Given the description of an element on the screen output the (x, y) to click on. 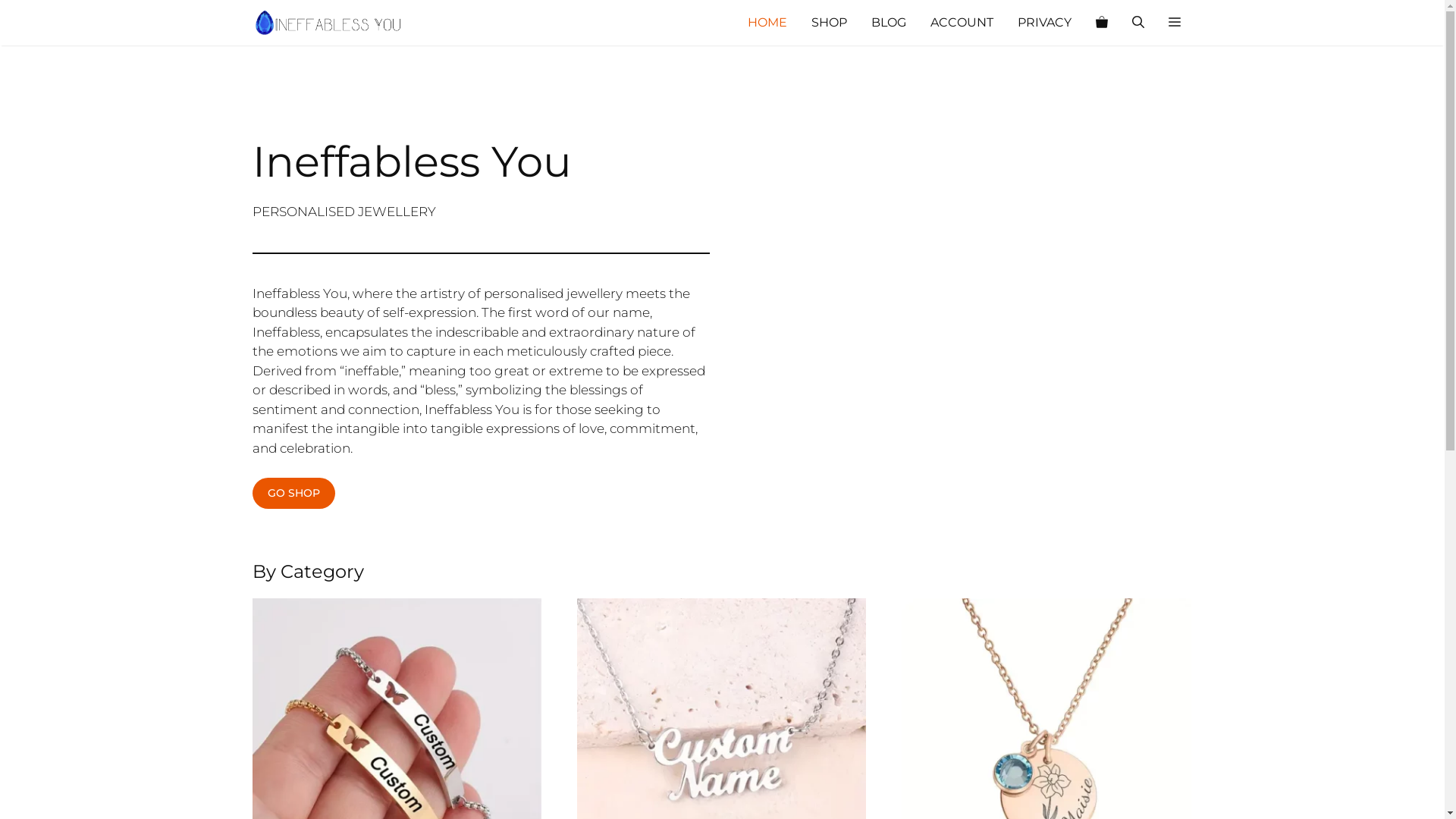
ACCOUNT Element type: text (960, 22)
SHOP Element type: text (829, 22)
Ineffabless You Element type: hover (327, 22)
GO SHOP Element type: text (292, 492)
View your shopping cart Element type: hover (1100, 22)
BLOG Element type: text (887, 22)
PRIVACY Element type: text (1044, 22)
HOME Element type: text (767, 22)
